Given the description of an element on the screen output the (x, y) to click on. 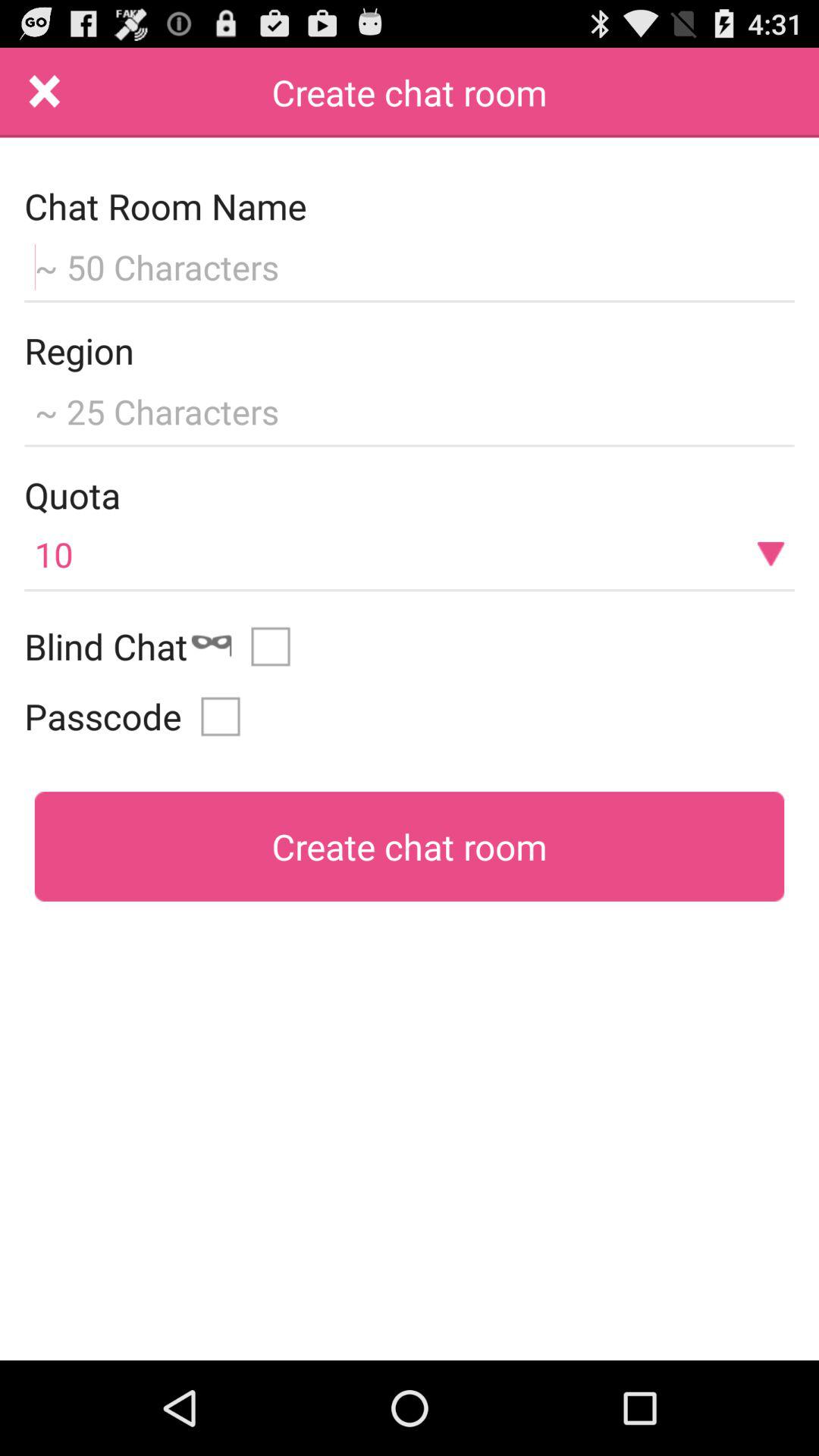
launch 10 (409, 554)
